Given the description of an element on the screen output the (x, y) to click on. 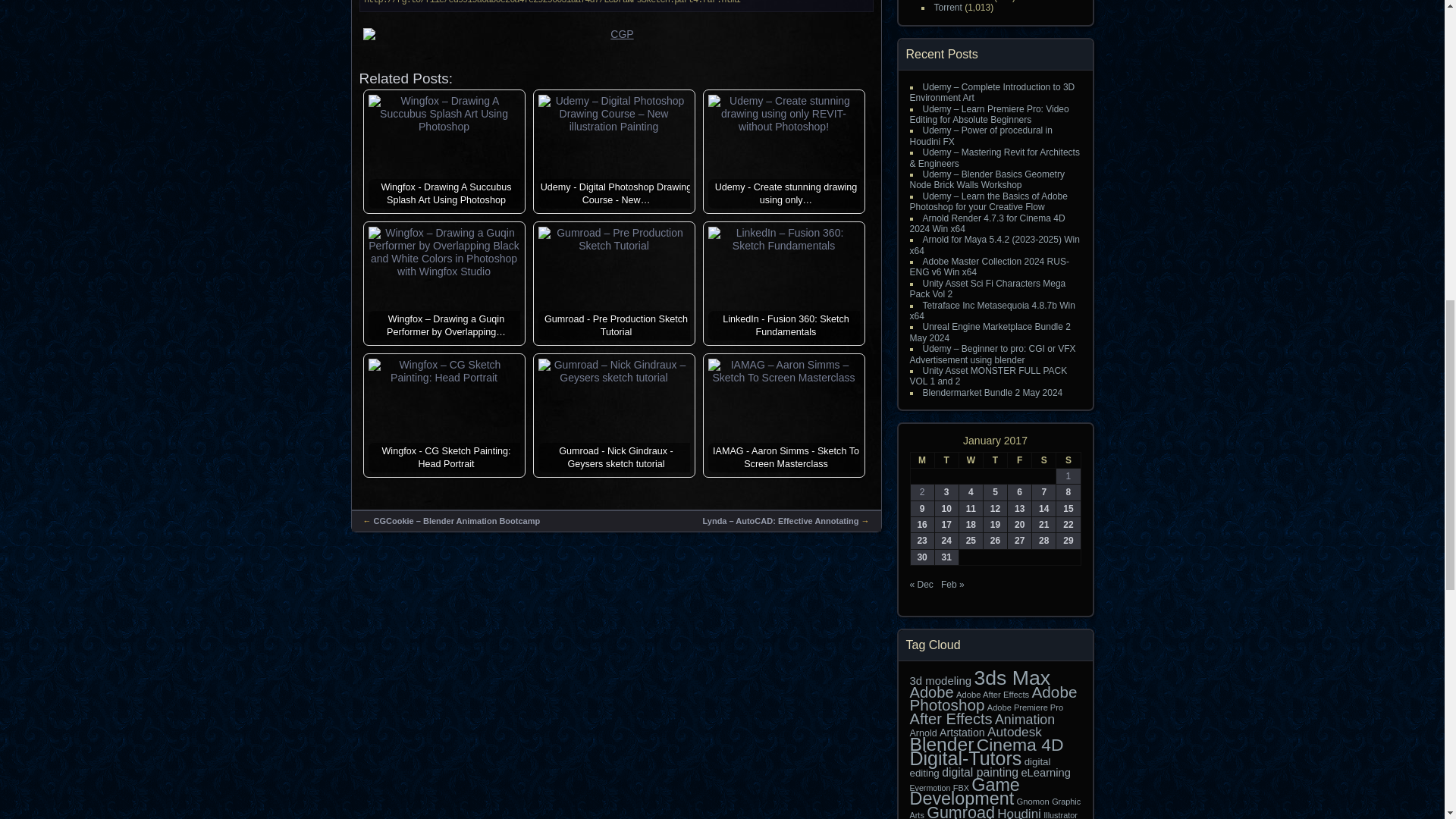
Monday (922, 459)
CGPersia (616, 41)
Tuesday (946, 459)
